Given the description of an element on the screen output the (x, y) to click on. 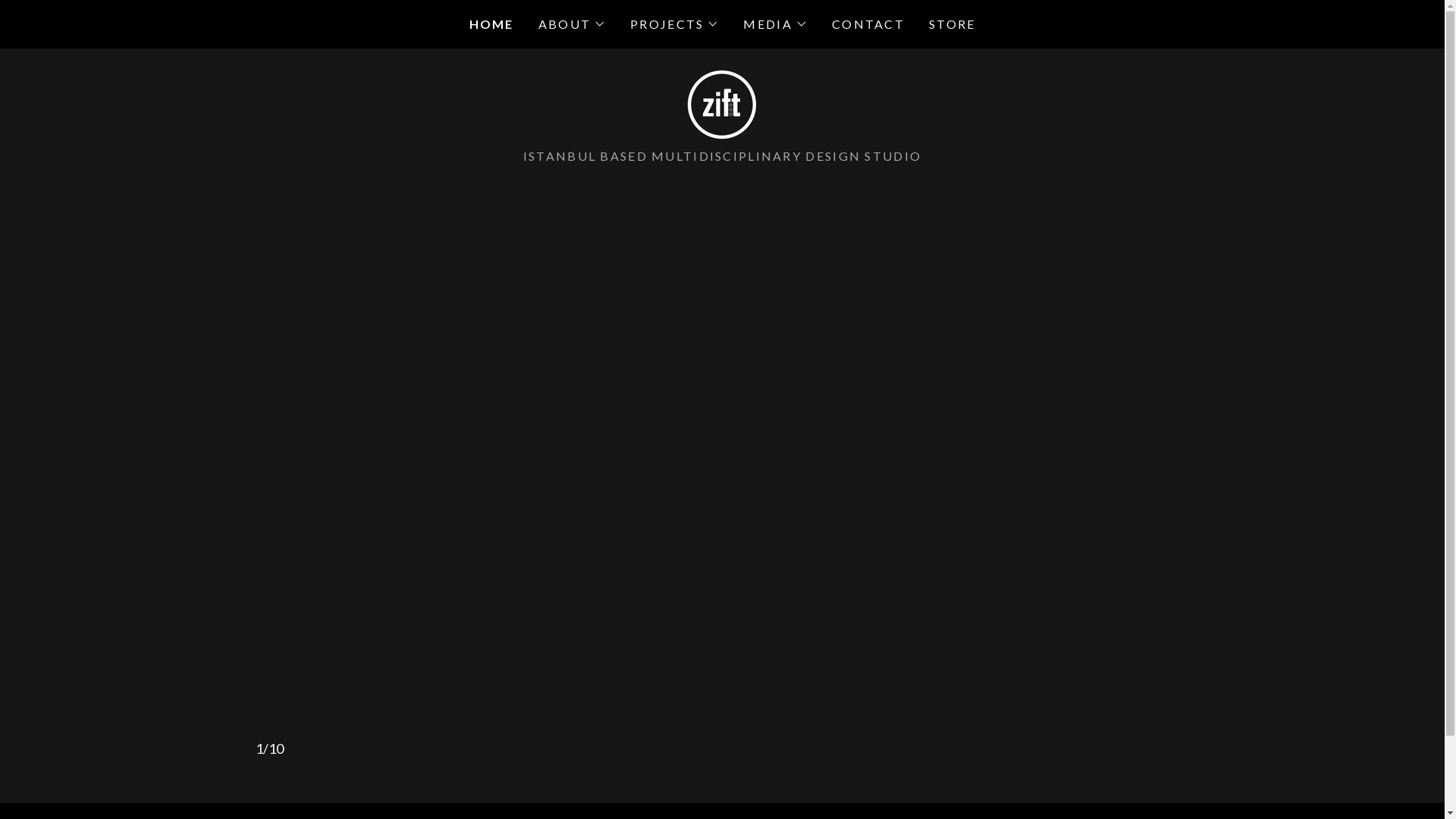
PROJECTS Element type: text (674, 24)
Zift Design Element type: hover (721, 102)
STORE Element type: text (951, 23)
MEDIA Element type: text (774, 24)
CONTACT Element type: text (868, 23)
HOME Element type: text (491, 24)
ABOUT Element type: text (571, 24)
